Given the description of an element on the screen output the (x, y) to click on. 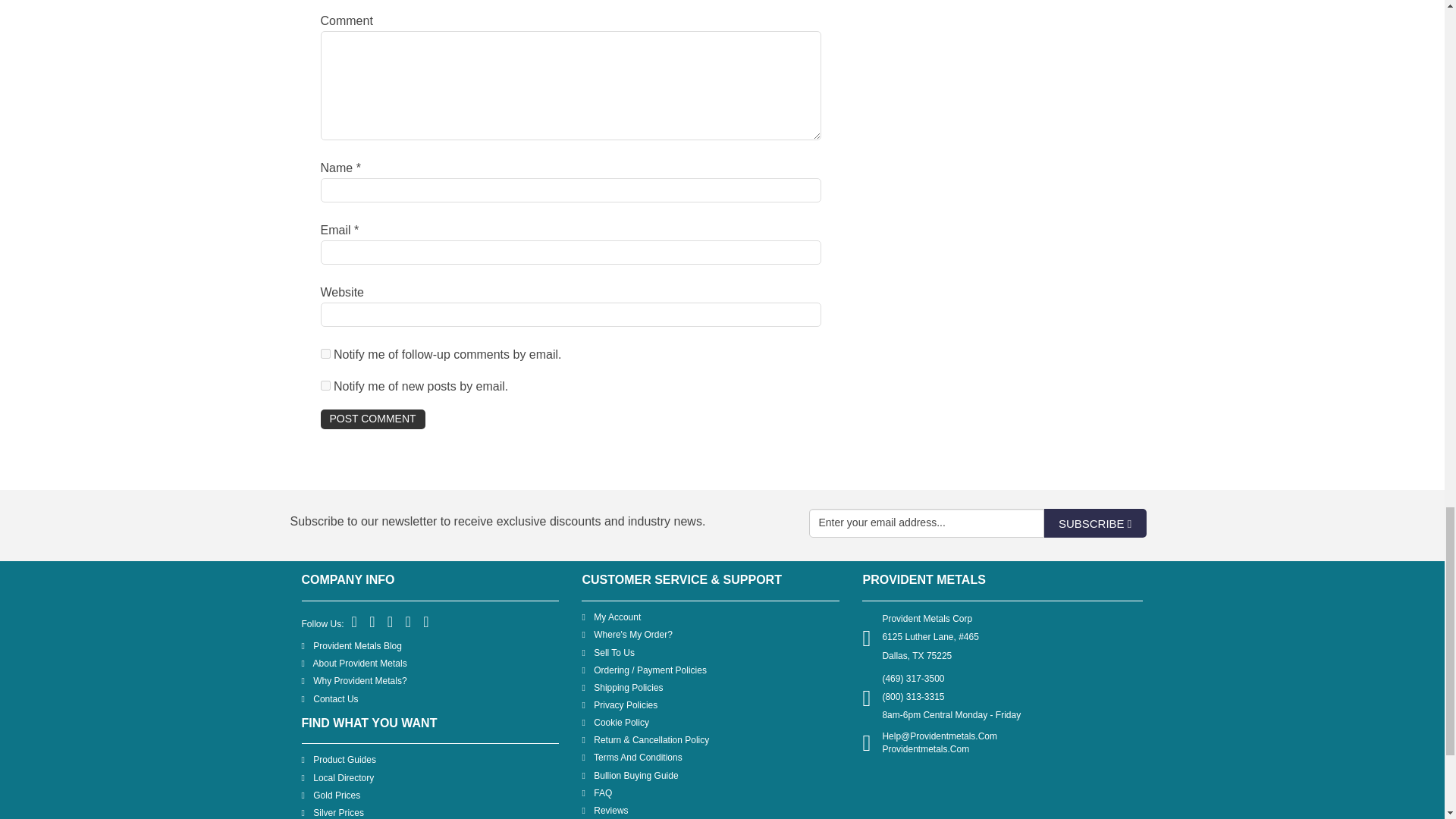
Pinterest (391, 623)
subscribe (325, 353)
You Tube (408, 623)
Post Comment (372, 419)
Instagram (426, 623)
subscribe (325, 385)
Post Comment (372, 419)
Facebook (354, 623)
Twitter (372, 623)
